Given the description of an element on the screen output the (x, y) to click on. 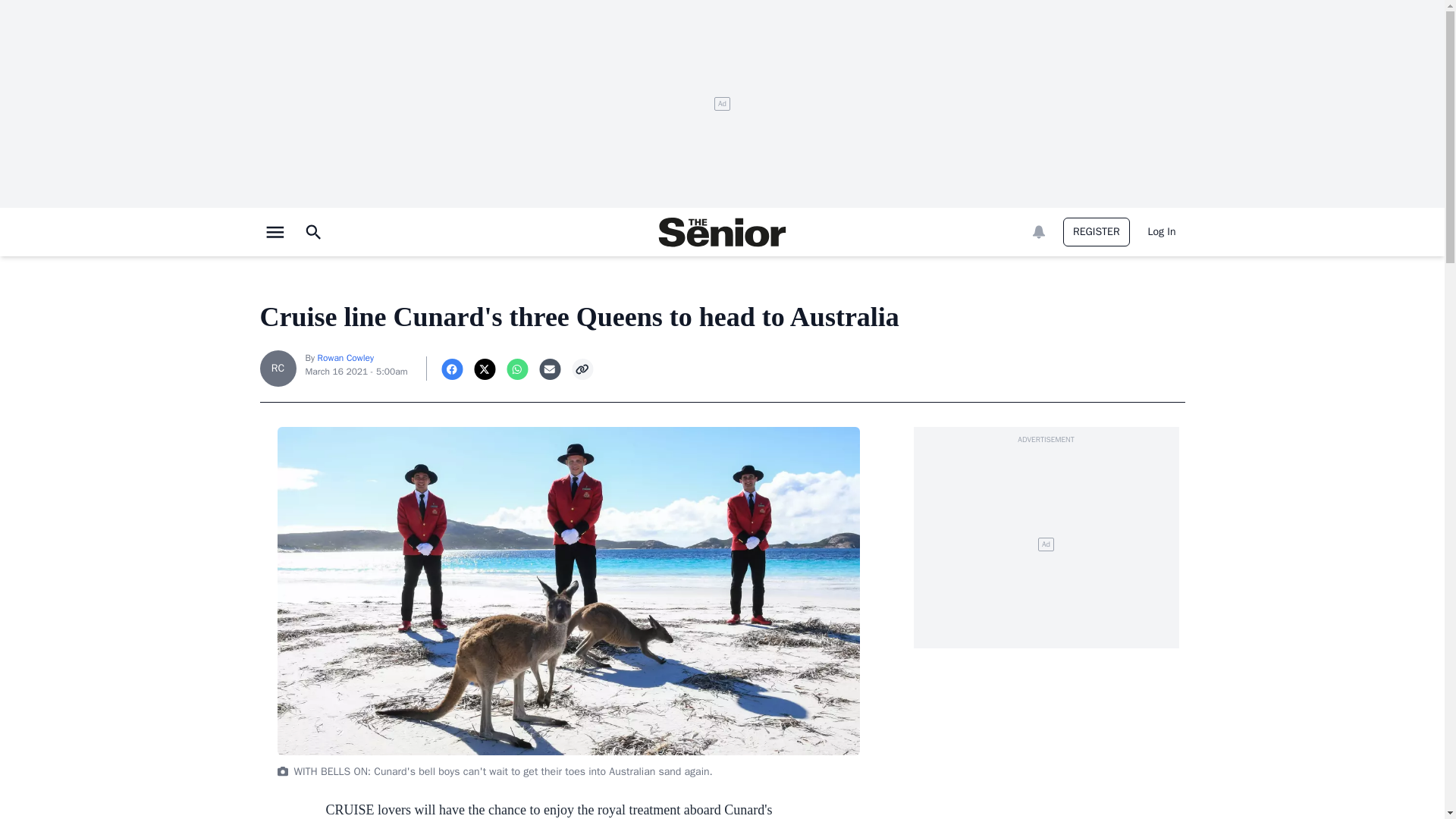
REGISTER (1095, 231)
Log In (1161, 231)
